Given the description of an element on the screen output the (x, y) to click on. 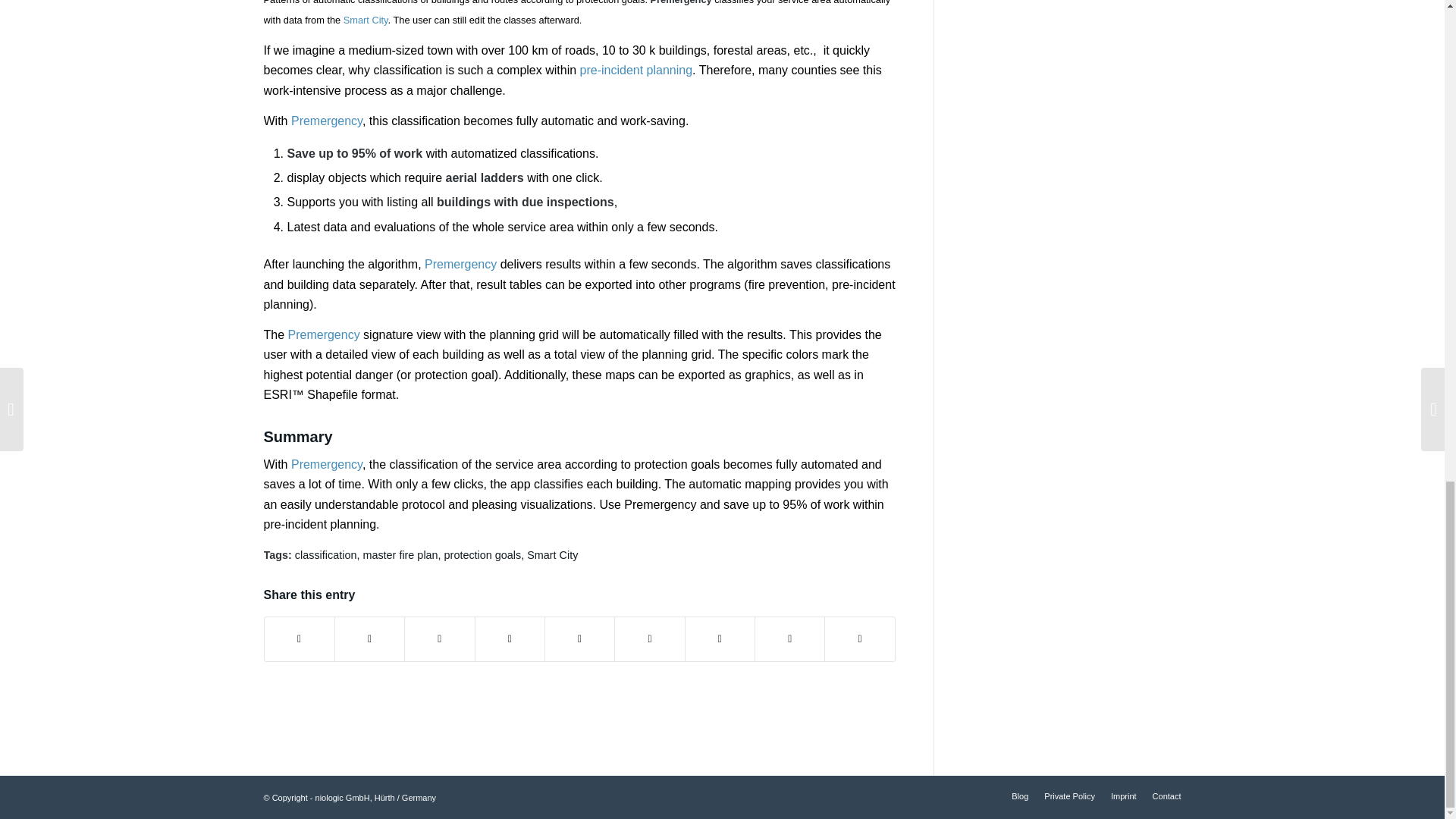
protection goals (482, 554)
Premergency (326, 463)
Premergency (460, 264)
Premergency (323, 334)
master fire plan (400, 554)
classification (325, 554)
pre-incident planning (636, 69)
Premergency (326, 120)
Smart City (552, 554)
Smart City (365, 19)
